Given the description of an element on the screen output the (x, y) to click on. 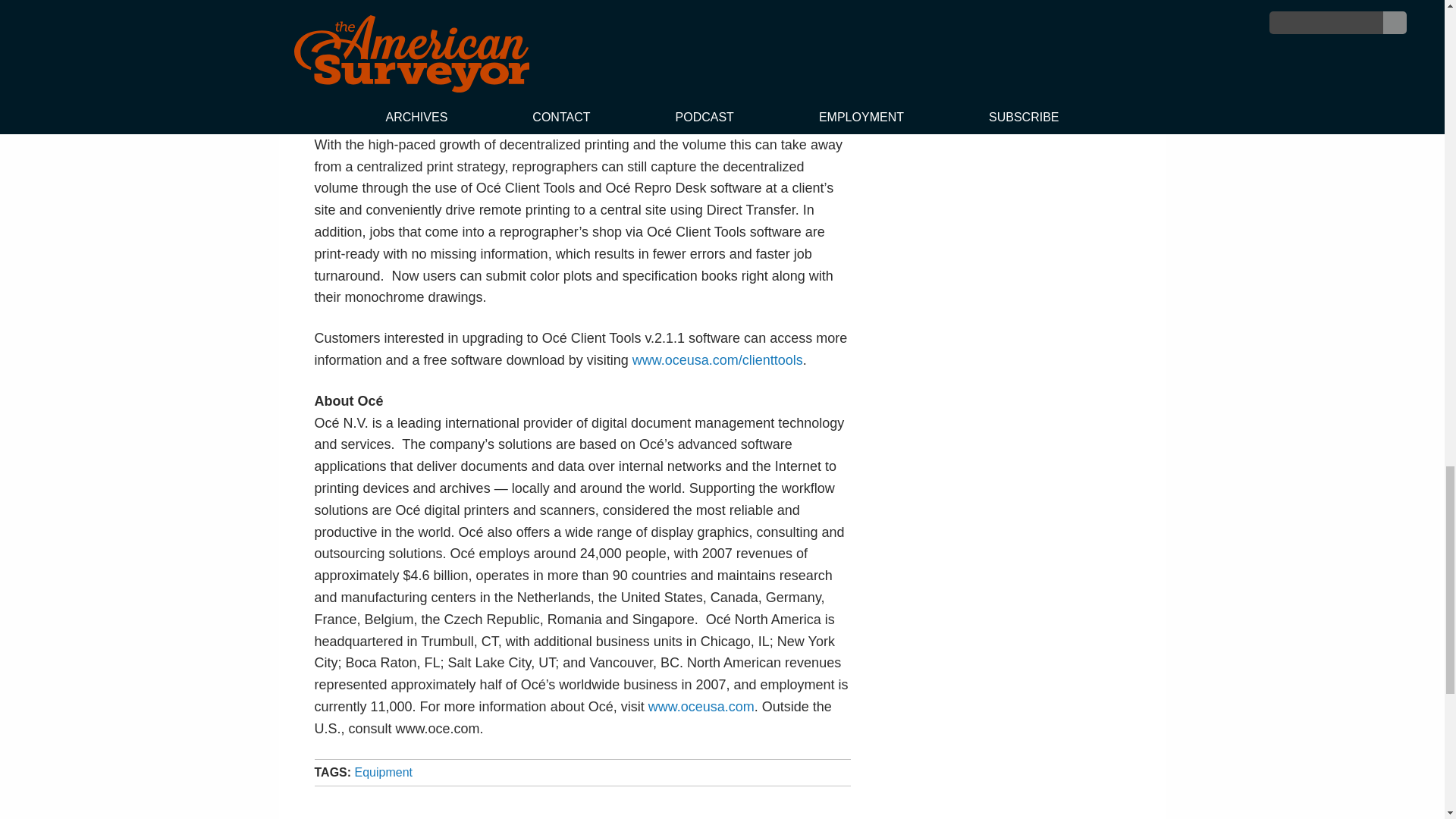
www.oceusa.com (700, 706)
Equipment (384, 771)
